Given the description of an element on the screen output the (x, y) to click on. 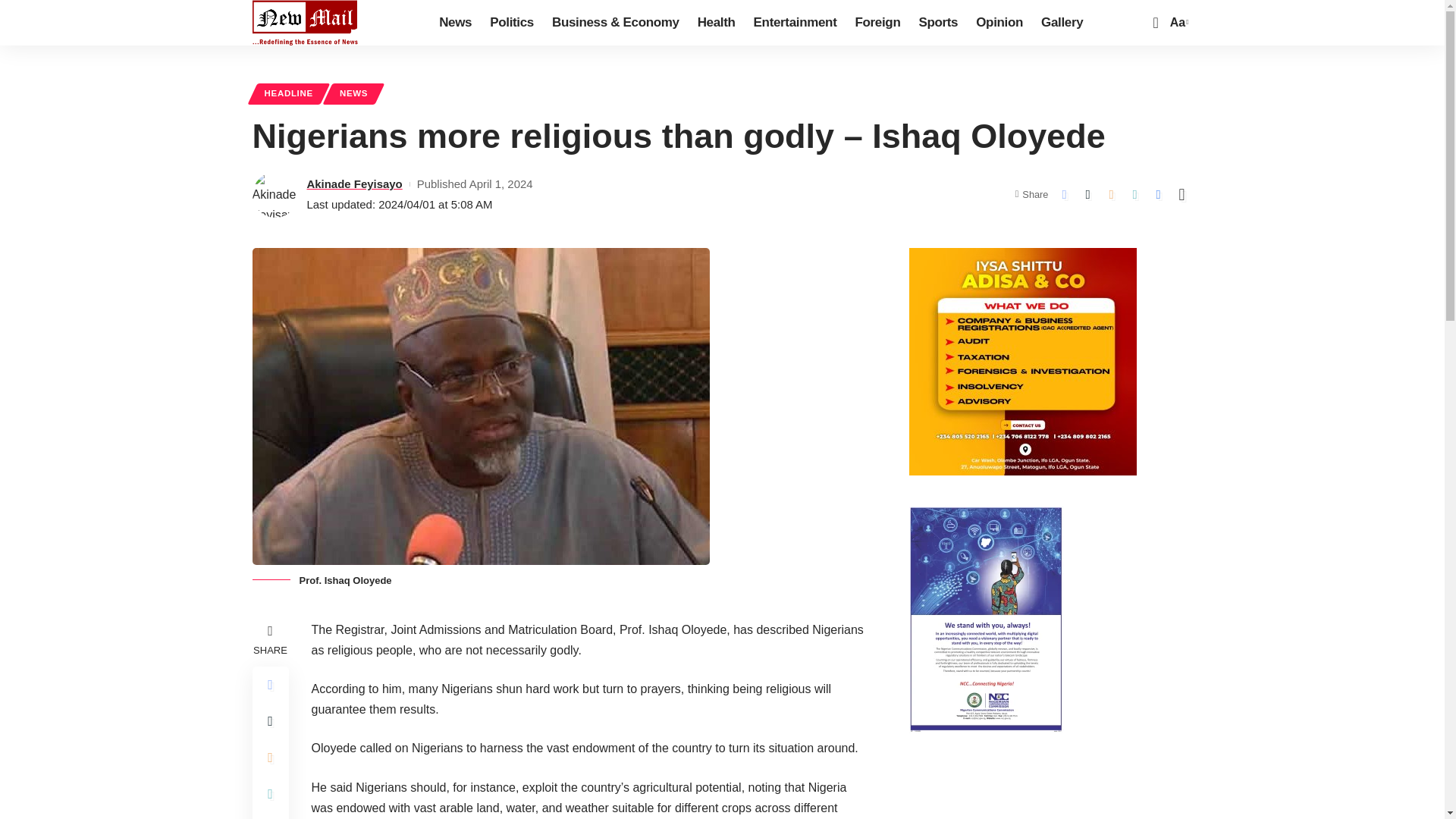
Aa (1177, 22)
Sports (937, 22)
Gallery (1062, 22)
News (454, 22)
Health (716, 22)
Entertainment (794, 22)
Opinion (999, 22)
Foreign (876, 22)
Politics (511, 22)
New Mail Nigeria (304, 22)
